Given the description of an element on the screen output the (x, y) to click on. 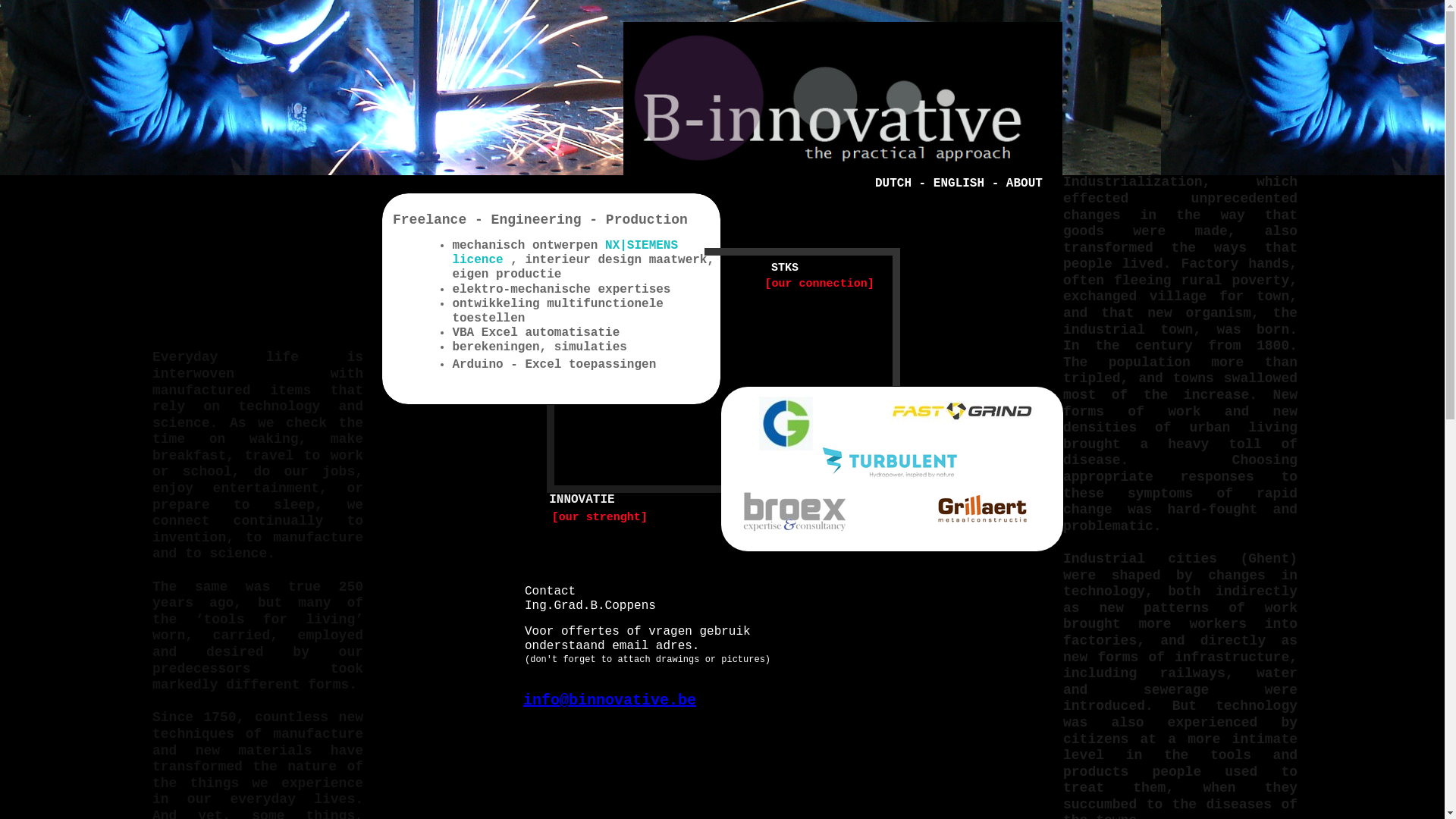
  Element type: text (725, 439)
ABOUT Element type: text (1024, 183)
DUTCH Element type: text (893, 183)
info@binnovative.be Element type: text (609, 700)
ENGLISH - Element type: text (969, 183)
    Element type: text (734, 457)
